Given the description of an element on the screen output the (x, y) to click on. 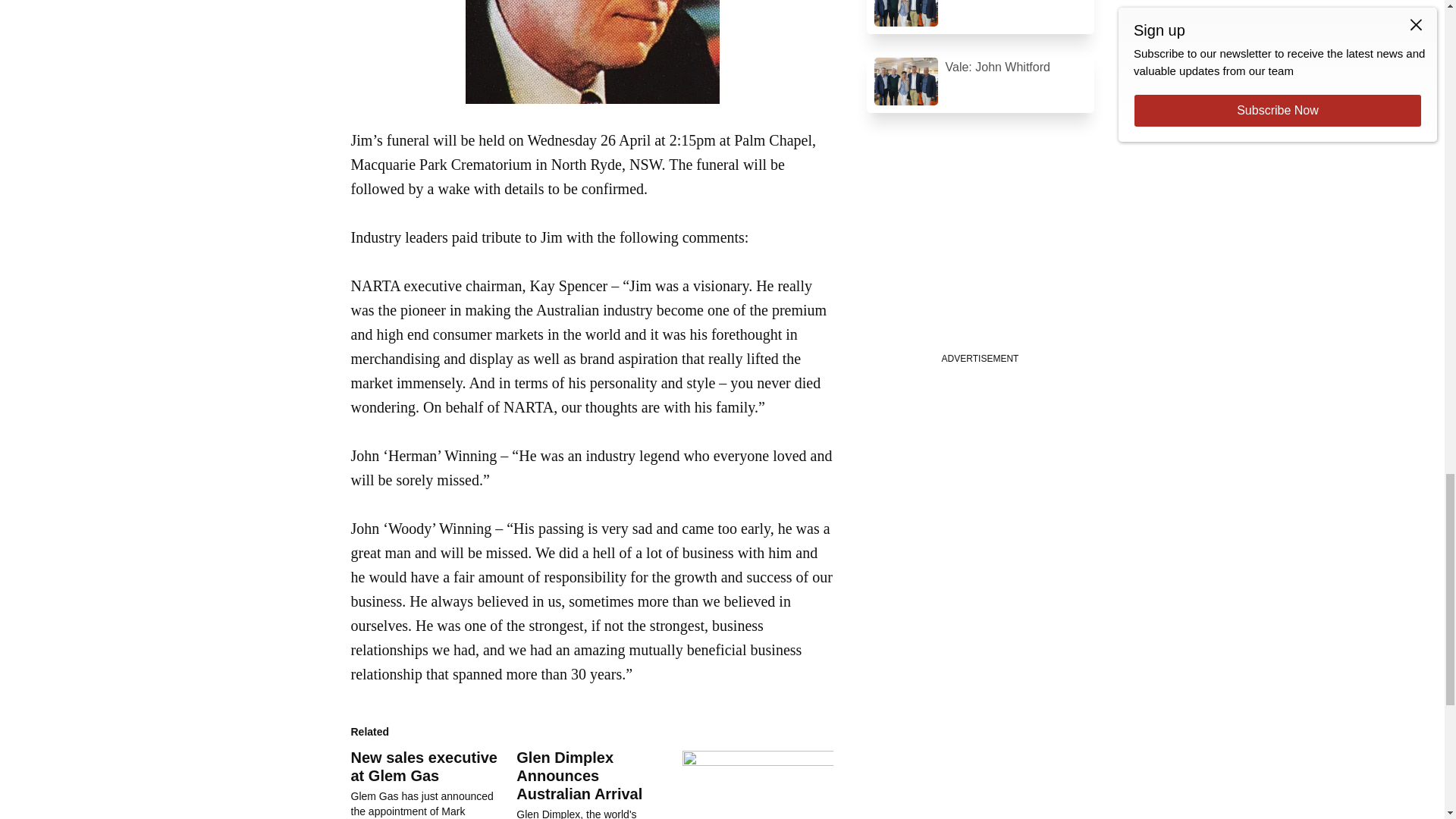
Glen Dimplex Announces Australian Arrival (579, 775)
Glen Dimplex Announces Australian Arrival (599, 783)
New sales executive at Glem Gas (423, 766)
New sales executive at Glem Gas (433, 783)
